Given the description of an element on the screen output the (x, y) to click on. 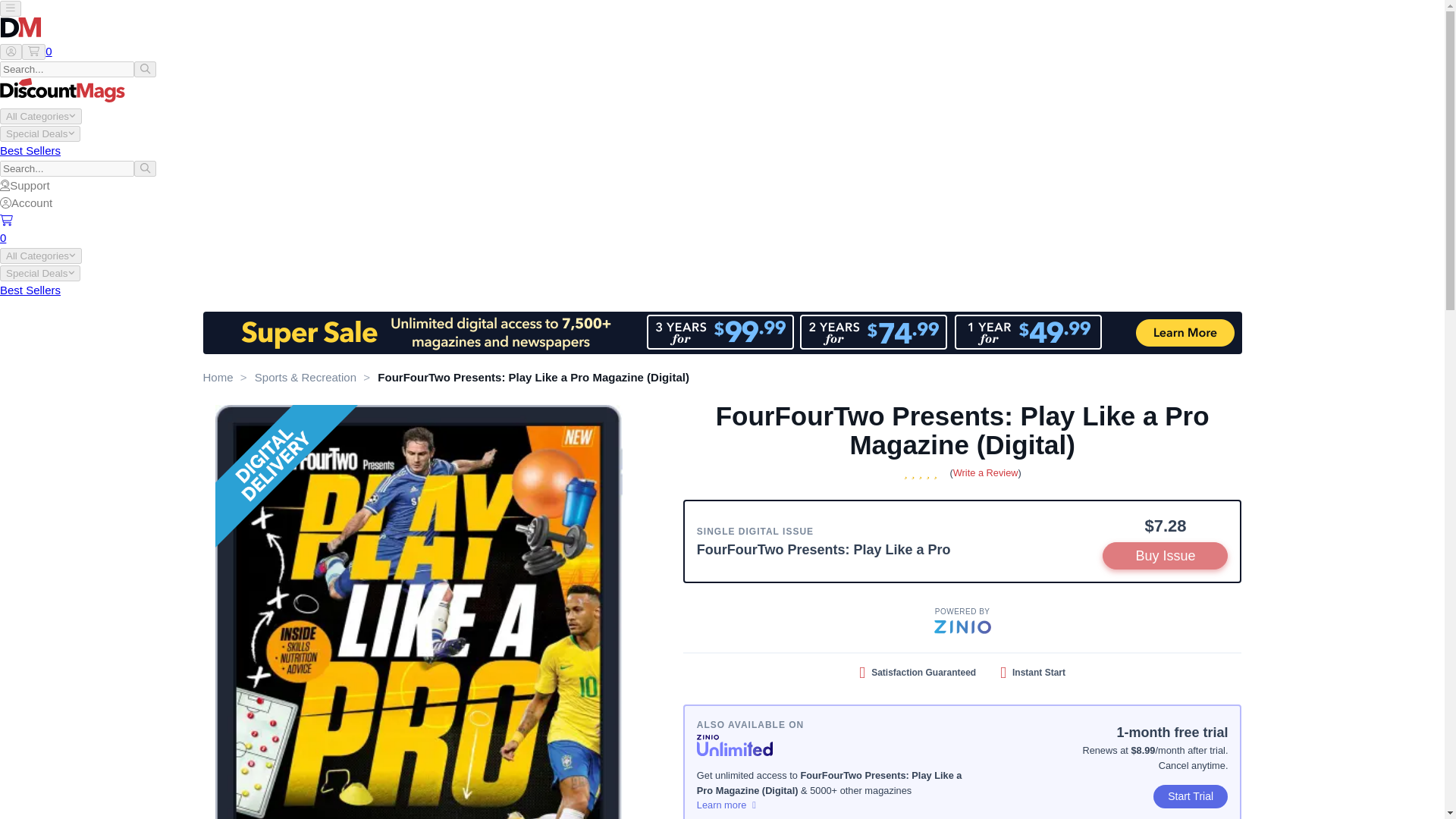
Home (217, 377)
Buy Issue (1164, 555)
Write a Review (985, 472)
Start Trial (1190, 796)
Learn more (829, 805)
